Given the description of an element on the screen output the (x, y) to click on. 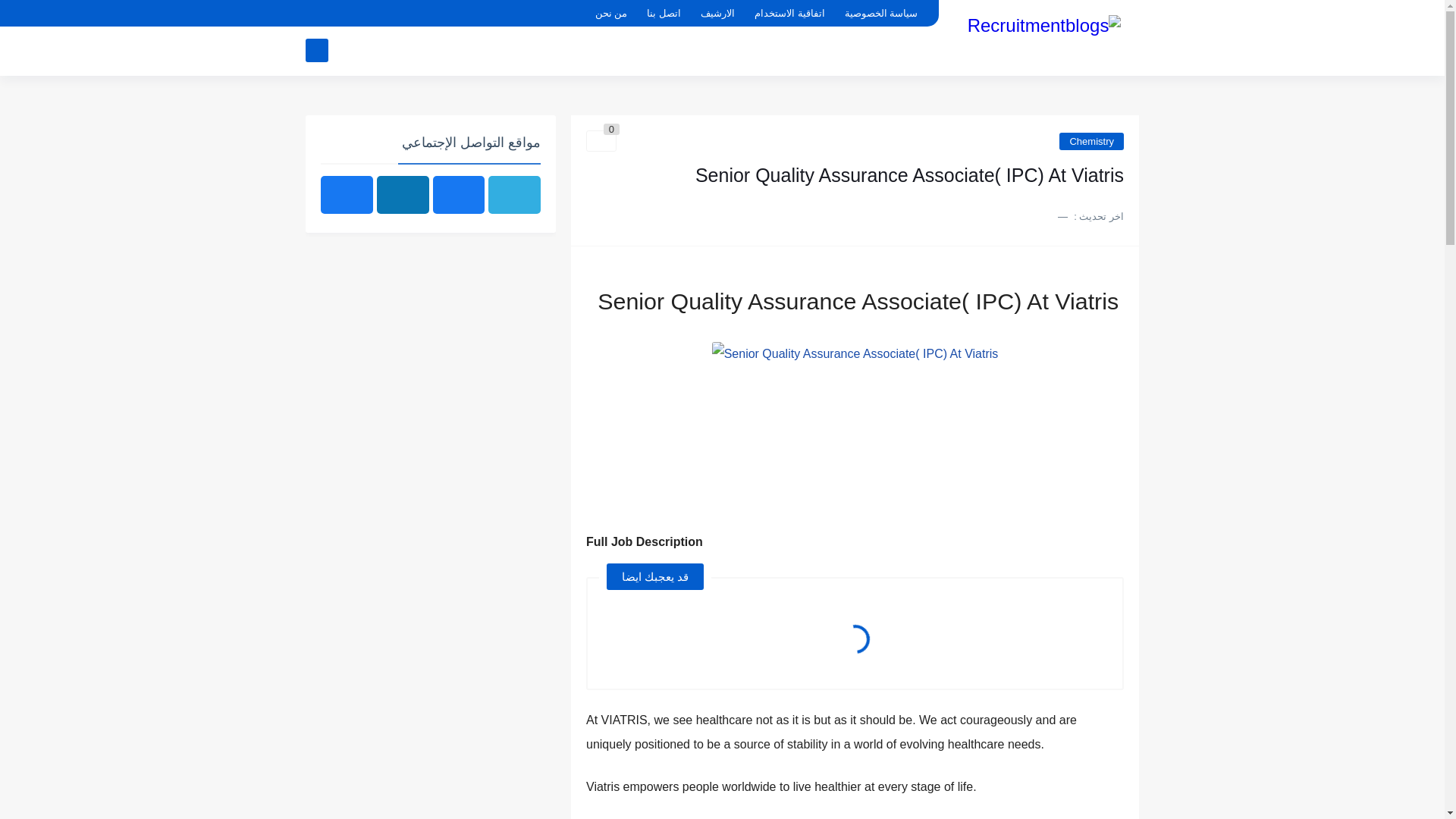
linkedin (343, 13)
facebook (317, 13)
telegram (395, 13)
Recruitmentblogs (1044, 36)
